Given the description of an element on the screen output the (x, y) to click on. 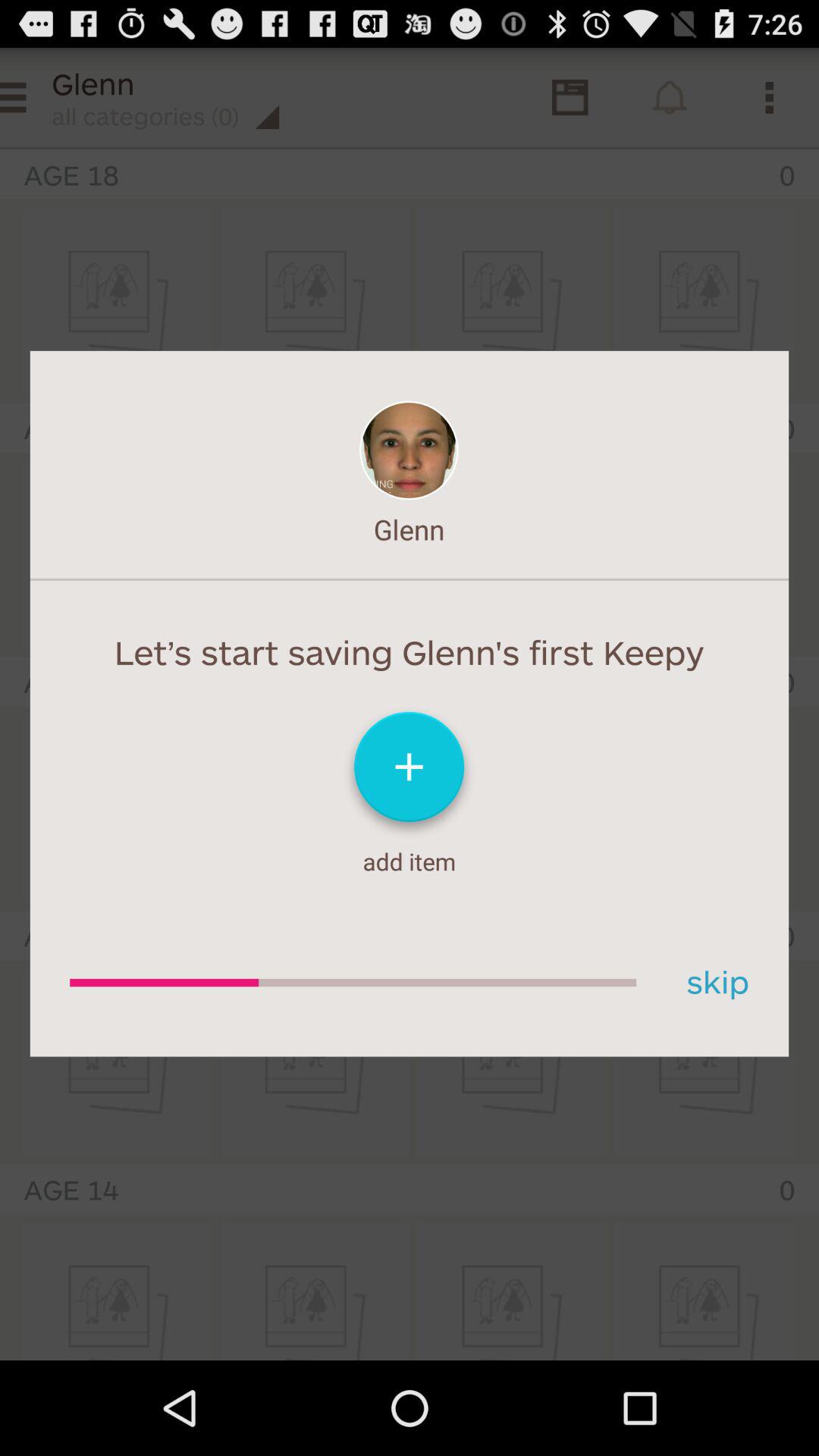
click item below let s start app (712, 982)
